Given the description of an element on the screen output the (x, y) to click on. 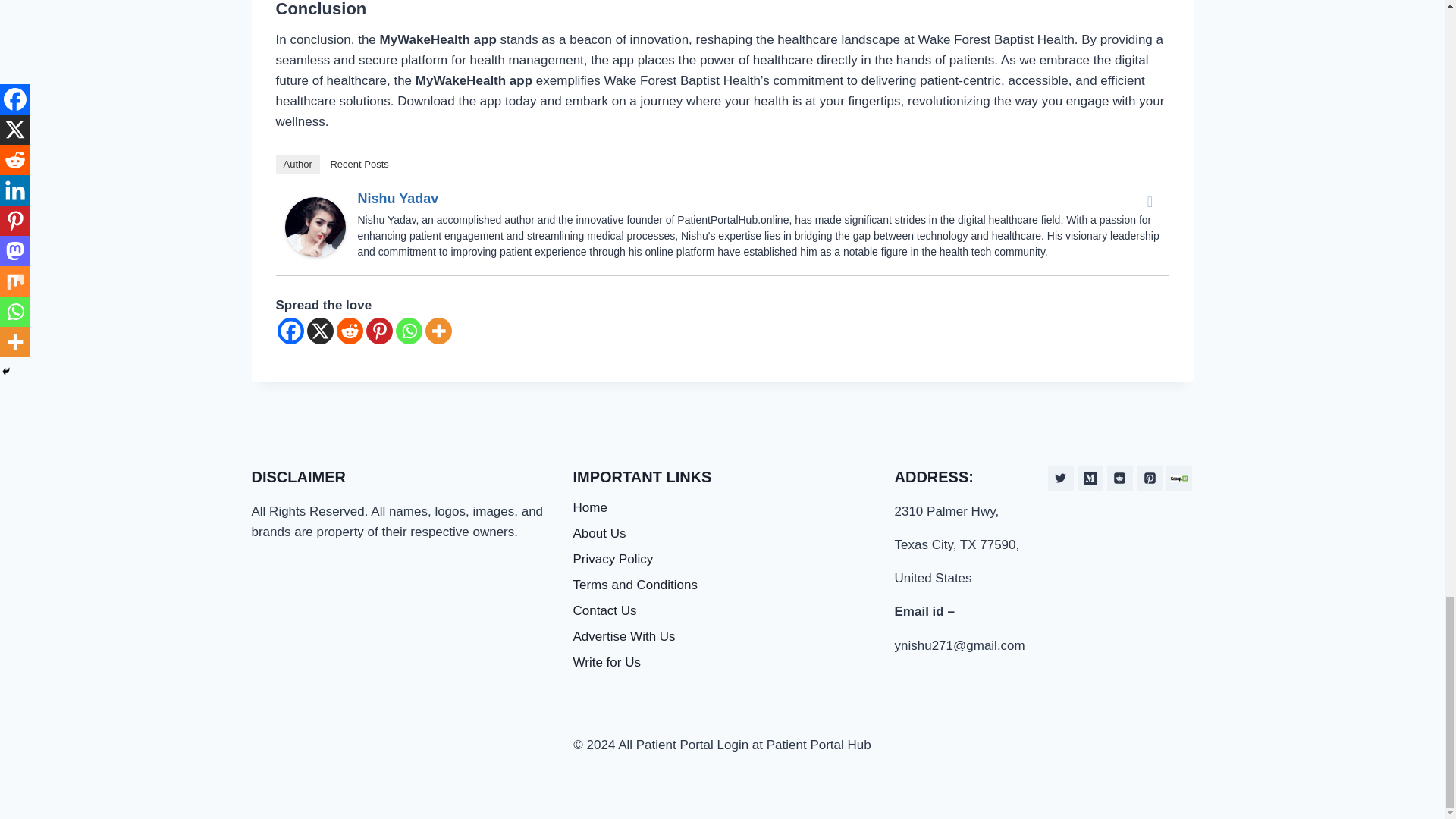
Author (298, 164)
Nishu Yadav (315, 227)
Recent Posts (358, 164)
Twitter (1149, 201)
Nishu Yadav (398, 198)
Facebook (291, 330)
